Given the description of an element on the screen output the (x, y) to click on. 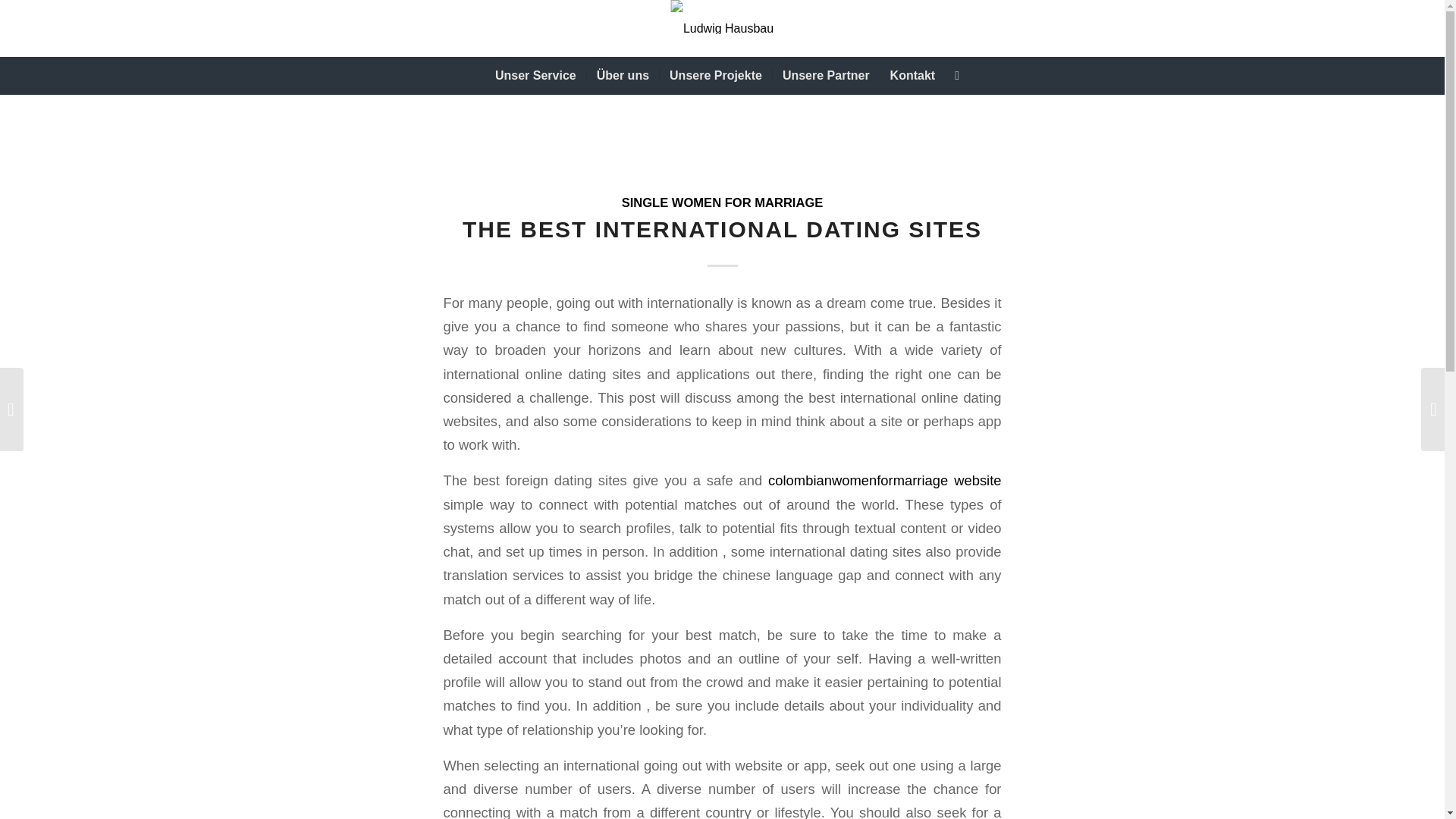
Unsere Partner (825, 75)
Unser Service (535, 75)
SINGLE WOMEN FOR MARRIAGE (722, 202)
Permanenter Link zu: The Best International Dating Sites (722, 229)
Kontakt (911, 75)
THE BEST INTERNATIONAL DATING SITES (722, 229)
colombianwomenformarriage website (884, 480)
Unsere Projekte (715, 75)
